Given the description of an element on the screen output the (x, y) to click on. 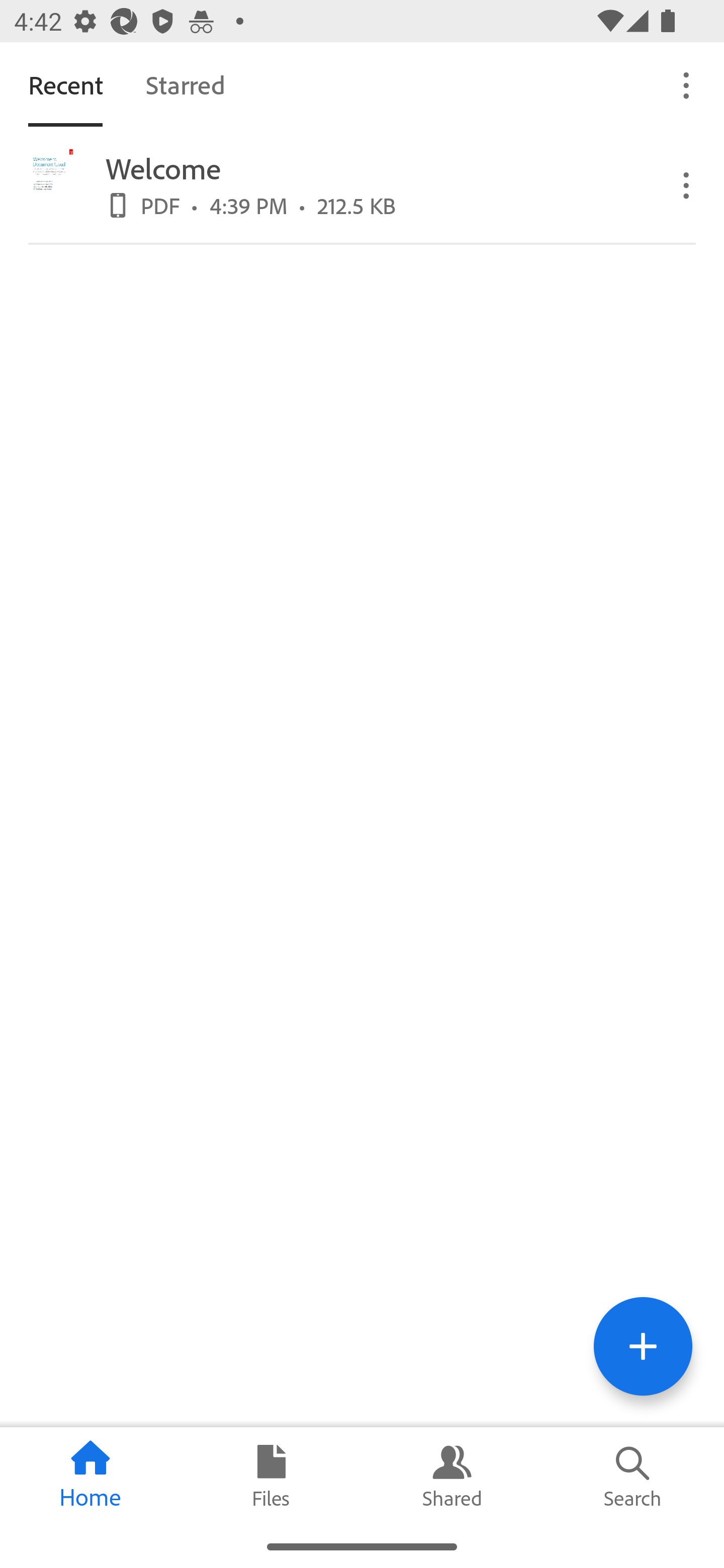
Recent (65, 84)
Starred (185, 84)
Overflow (687, 84)
Overflow (687, 184)
Tools (642, 1345)
Home (90, 1475)
Files (271, 1475)
Shared (452, 1475)
Search (633, 1475)
